Given the description of an element on the screen output the (x, y) to click on. 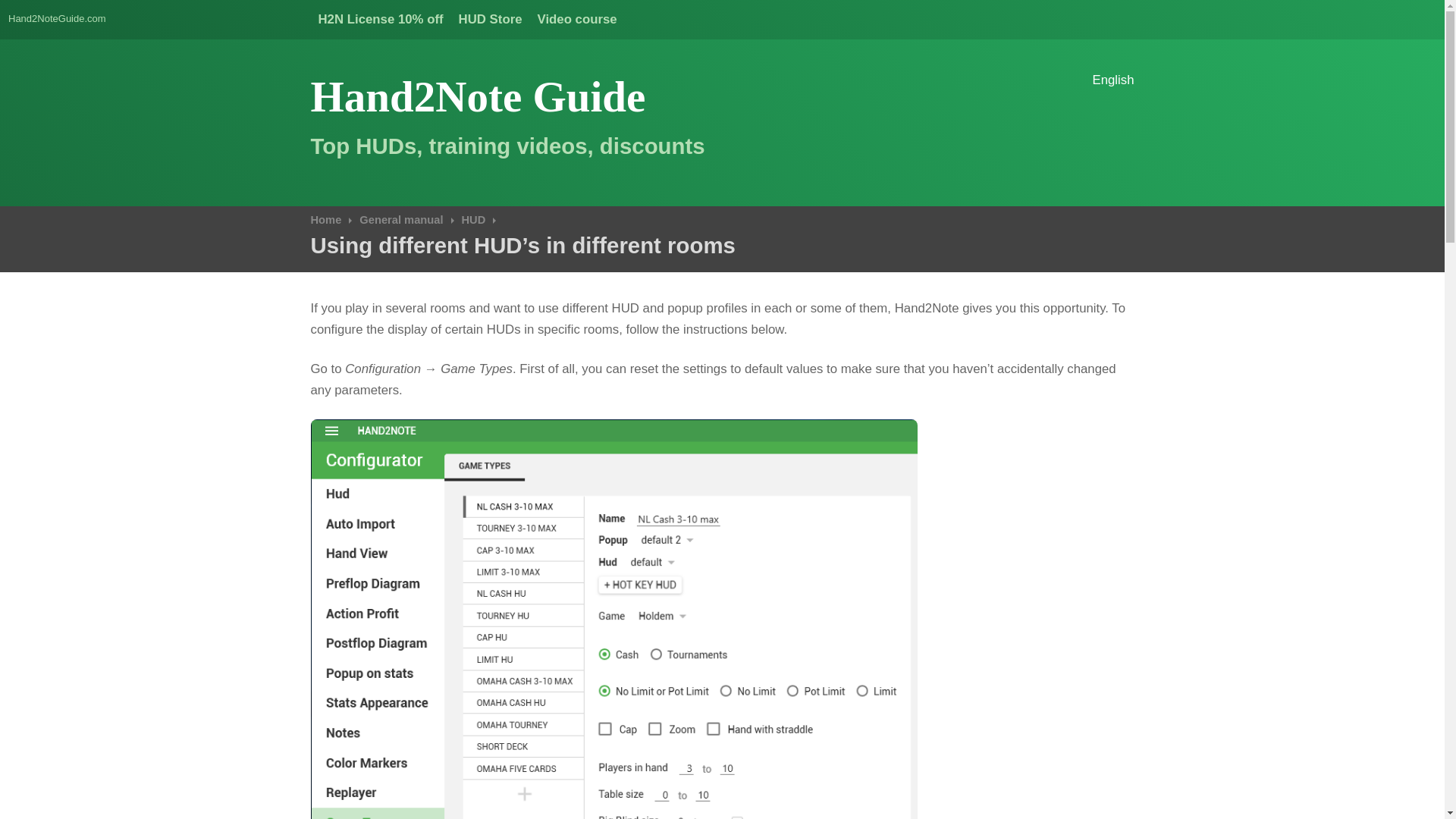
HUD (478, 219)
English (1113, 82)
Home (331, 219)
General manual (405, 219)
Video course (576, 18)
Hand2NoteGuide.com (57, 18)
HUD Store (490, 18)
Hand2Note Guide (478, 96)
Top HUDs, training videos, discounts (507, 145)
